Given the description of an element on the screen output the (x, y) to click on. 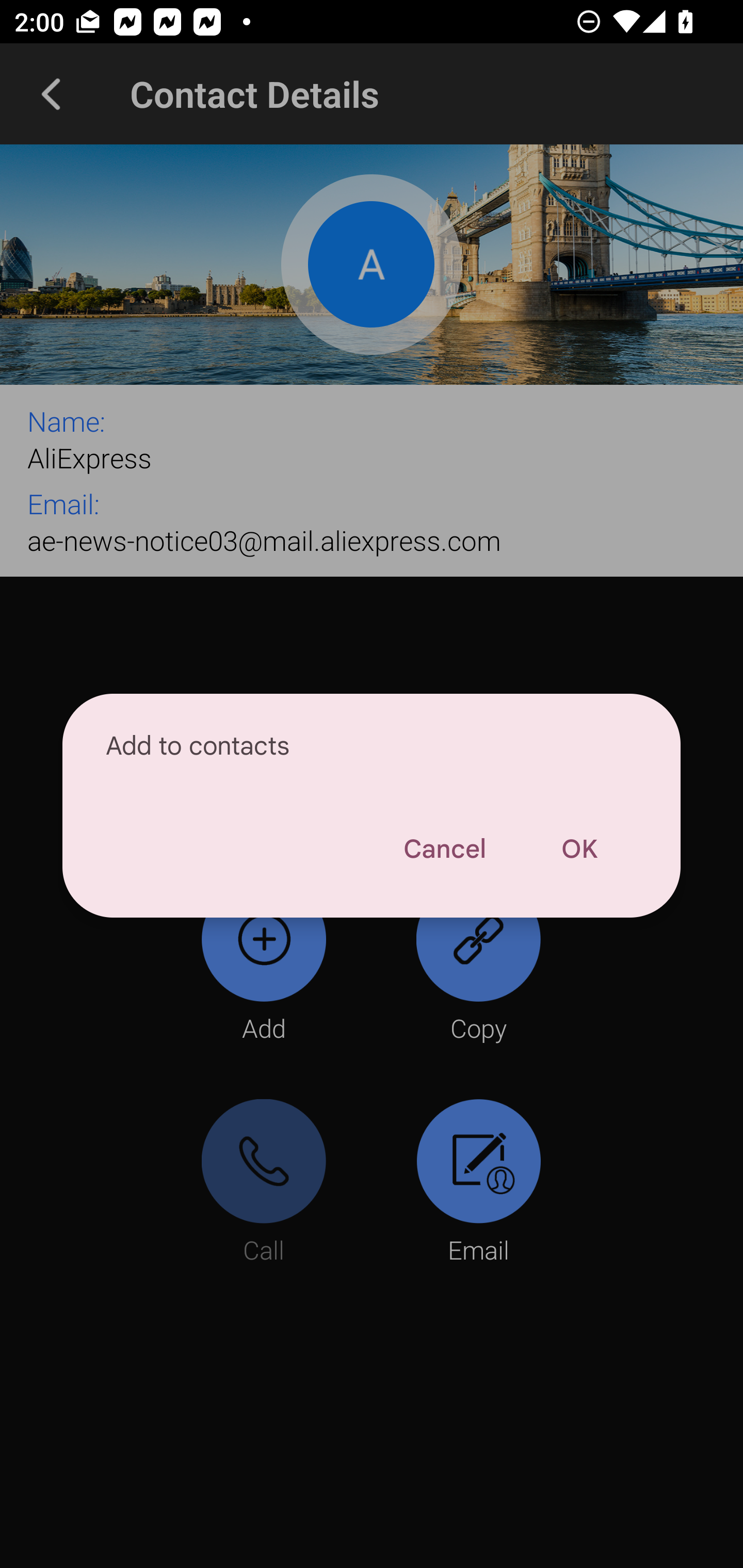
Cancel (444, 848)
OK (579, 848)
